Given the description of an element on the screen output the (x, y) to click on. 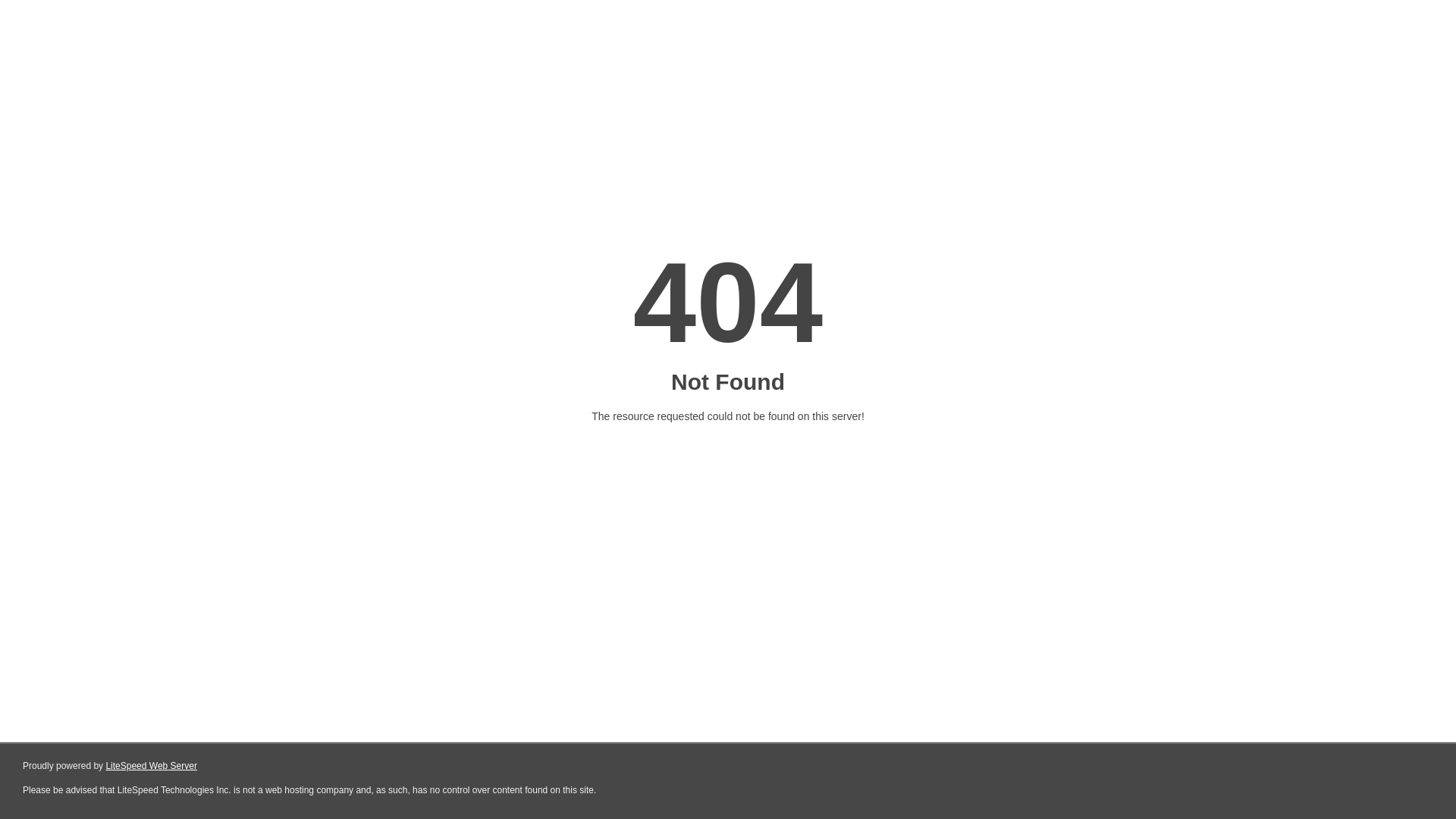
LiteSpeed Web Server Element type: text (151, 765)
